Given the description of an element on the screen output the (x, y) to click on. 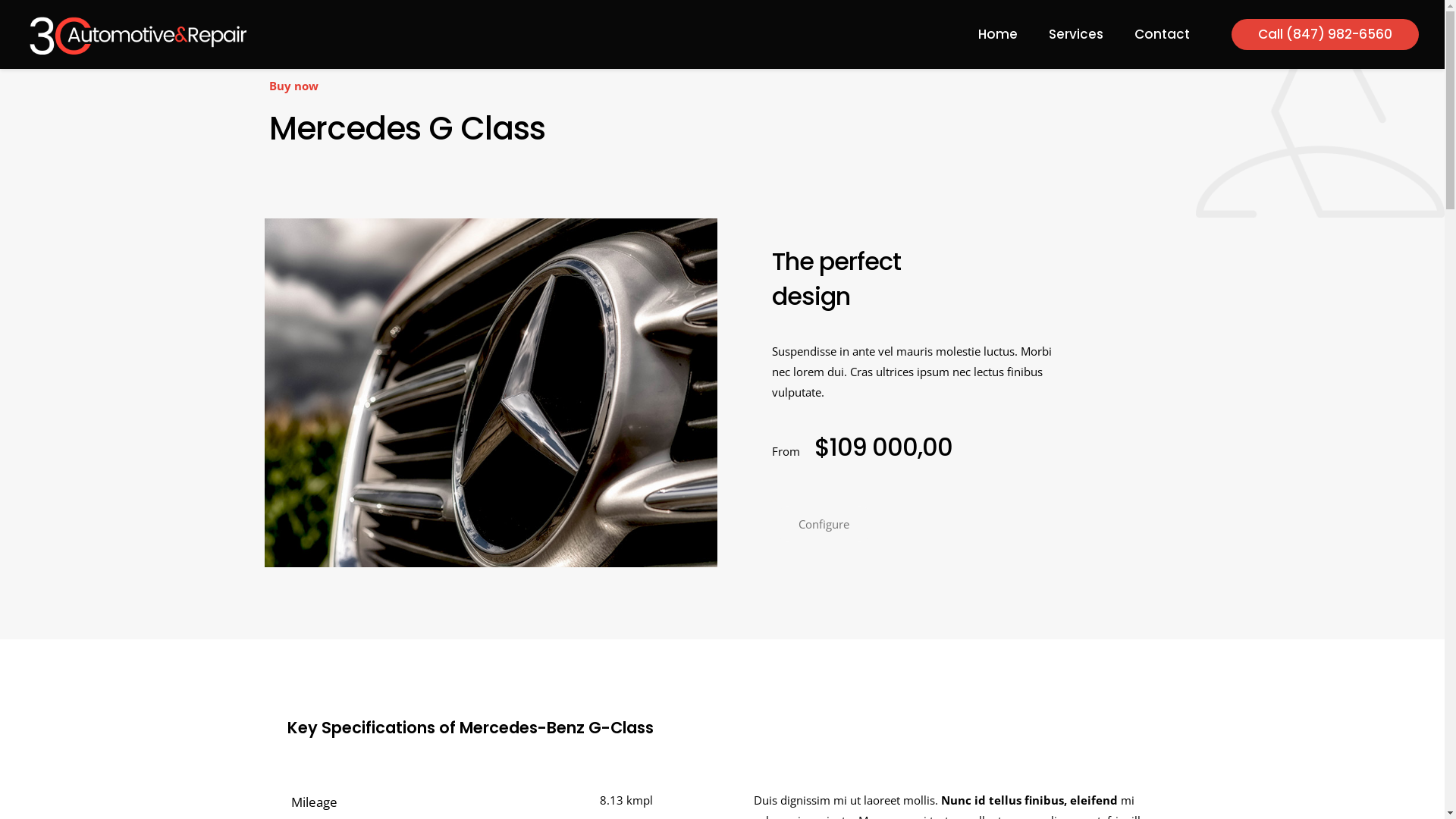
Services Element type: text (1076, 34)
Other Services Element type: text (928, 535)
3Cauto.com Element type: hover (137, 34)
Vimeo Element type: hover (1077, 788)
(847) 982-6560 Element type: text (660, 418)
SvetDigital Element type: text (784, 788)
Contact Element type: text (1161, 34)
contact@3cauto.com Element type: text (657, 683)
Engine Repair Element type: text (925, 488)
Suspension & Steering Element type: text (951, 464)
YouTube Element type: hover (1097, 788)
Call (847) 982-6560 Element type: text (1324, 34)
Body Repair Works Element type: text (941, 511)
Brakes Element type: text (905, 417)
Home Element type: text (998, 34)
8256 Lincoln Avenue,
Skokie, Illinois 60077 Element type: text (658, 497)
Starting & Charging Systems Element type: text (968, 441)
Configure Element type: text (823, 524)
Facebook Element type: hover (1056, 788)
